Given the description of an element on the screen output the (x, y) to click on. 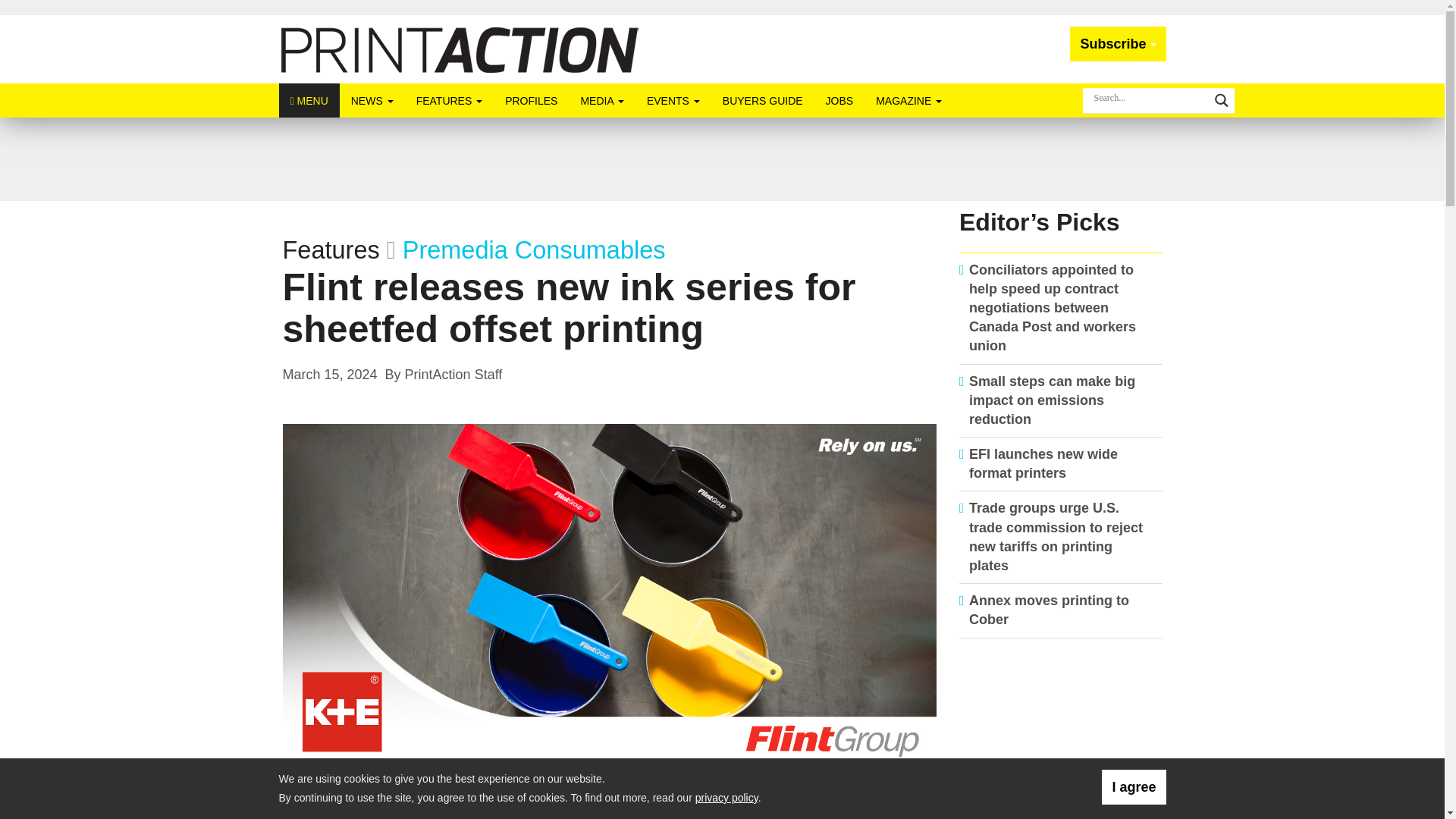
PROFILES (531, 100)
NEWS (371, 100)
FEATURES (449, 100)
Click to show site navigation (309, 100)
Subscribe (1118, 43)
MENU (309, 100)
PrintAction (459, 48)
3rd party ad content (1060, 736)
MEDIA (601, 100)
EVENTS (672, 100)
